Given the description of an element on the screen output the (x, y) to click on. 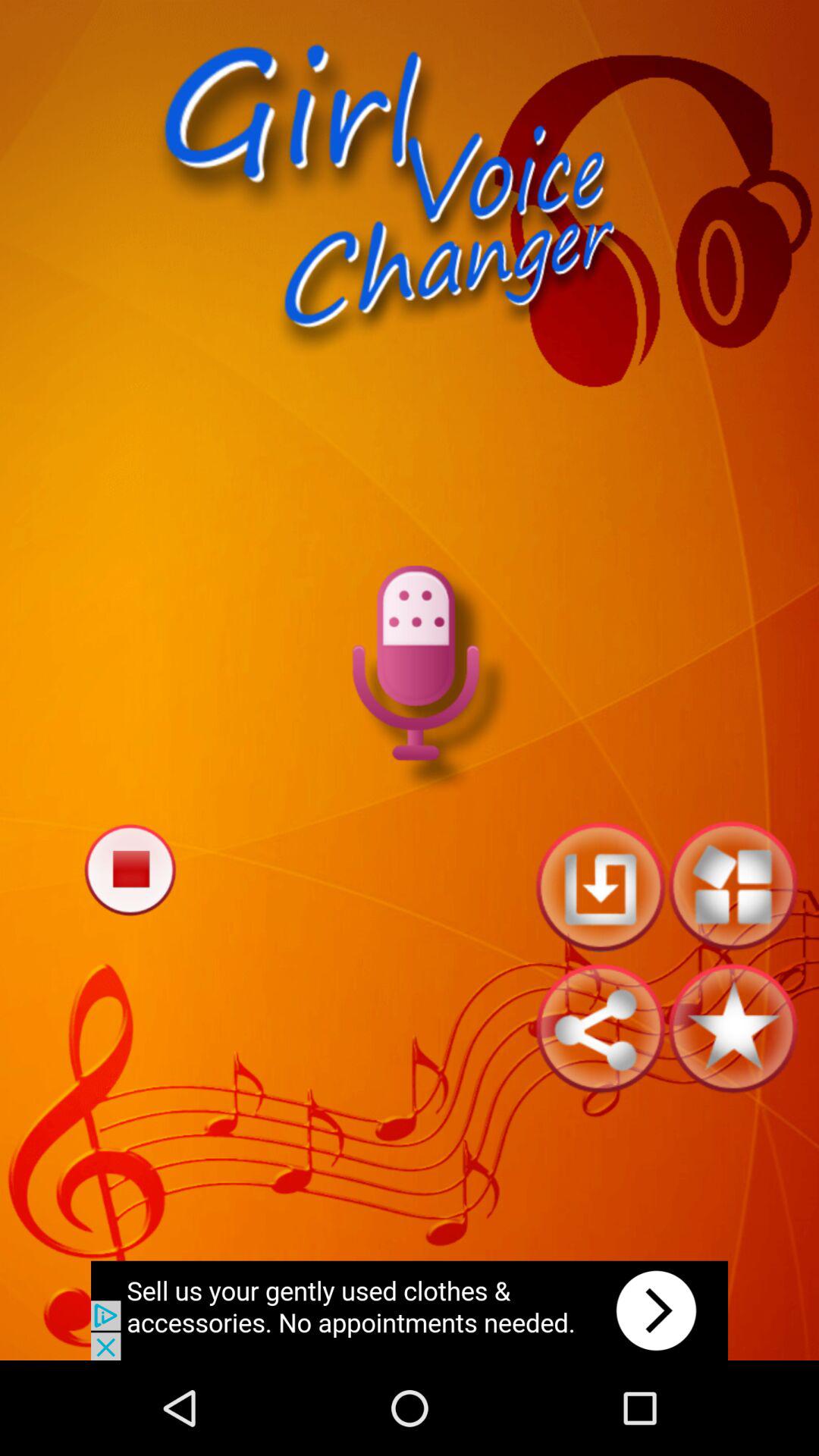
open the advertisement link (409, 1310)
